Given the description of an element on the screen output the (x, y) to click on. 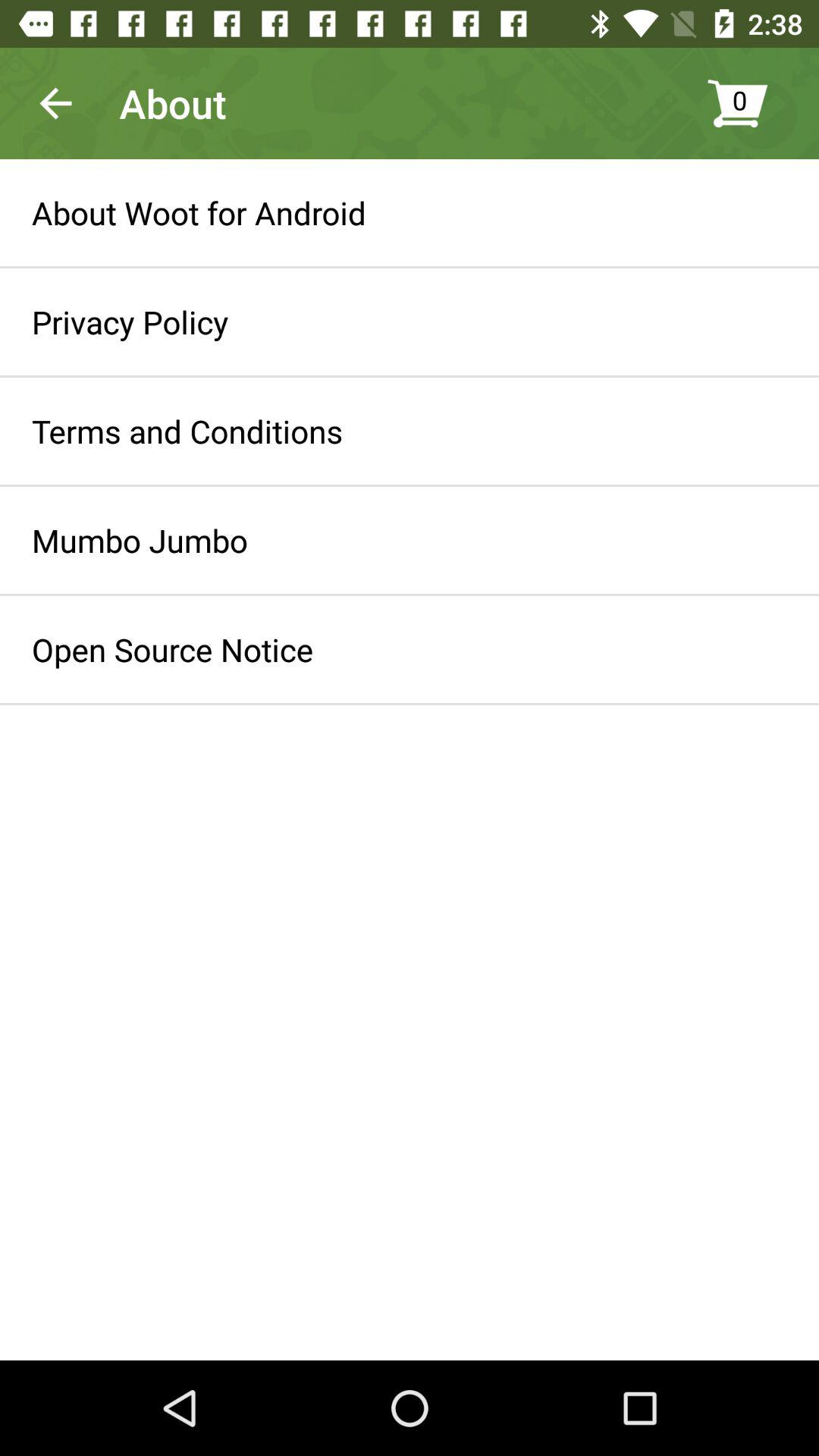
launch the app to the left of the about (55, 103)
